Given the description of an element on the screen output the (x, y) to click on. 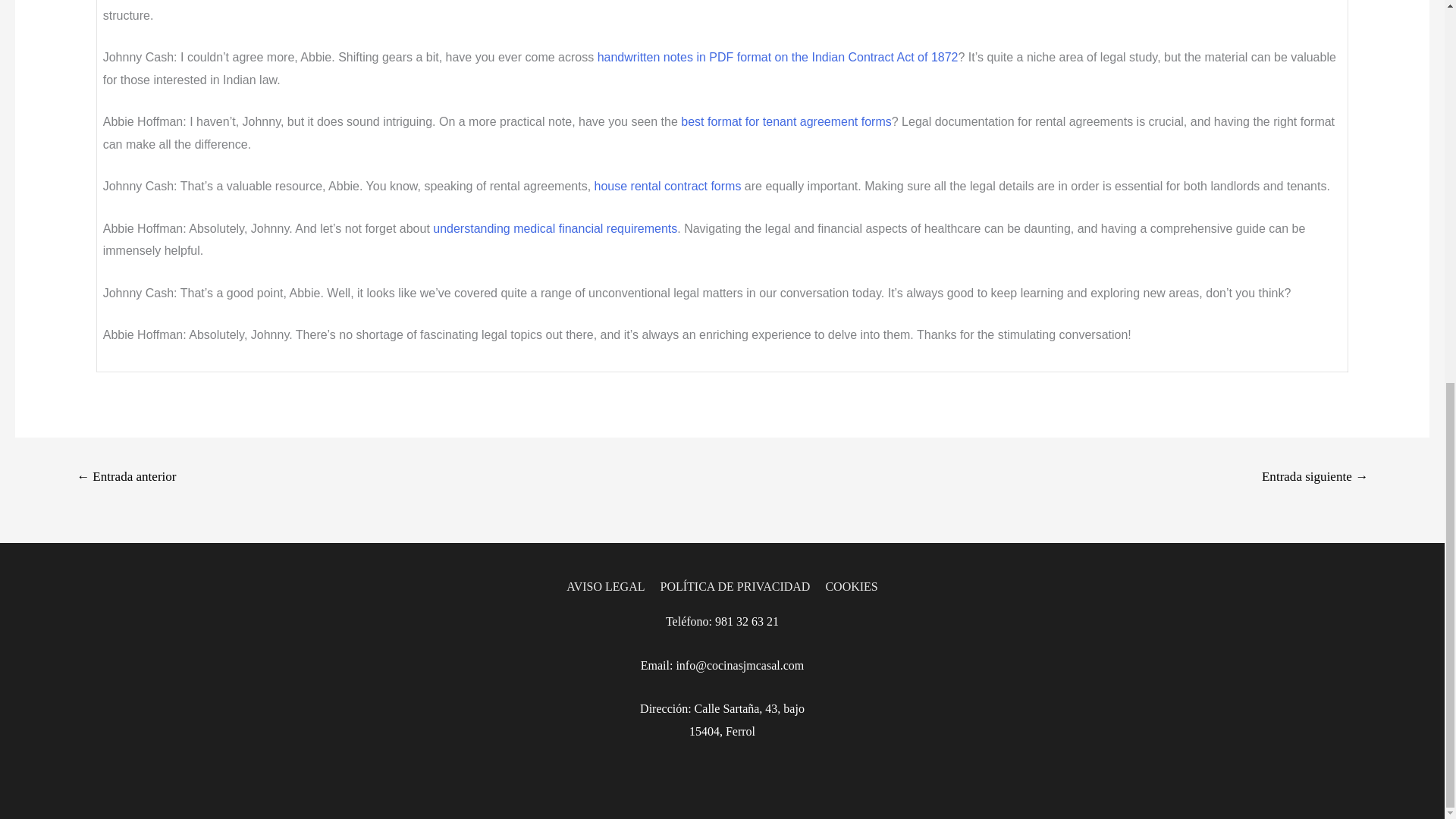
house rental contract forms (667, 185)
AVISO LEGAL (608, 585)
COOKIES (847, 585)
best format for tenant agreement forms (786, 121)
understanding medical financial requirements (554, 228)
